Given the description of an element on the screen output the (x, y) to click on. 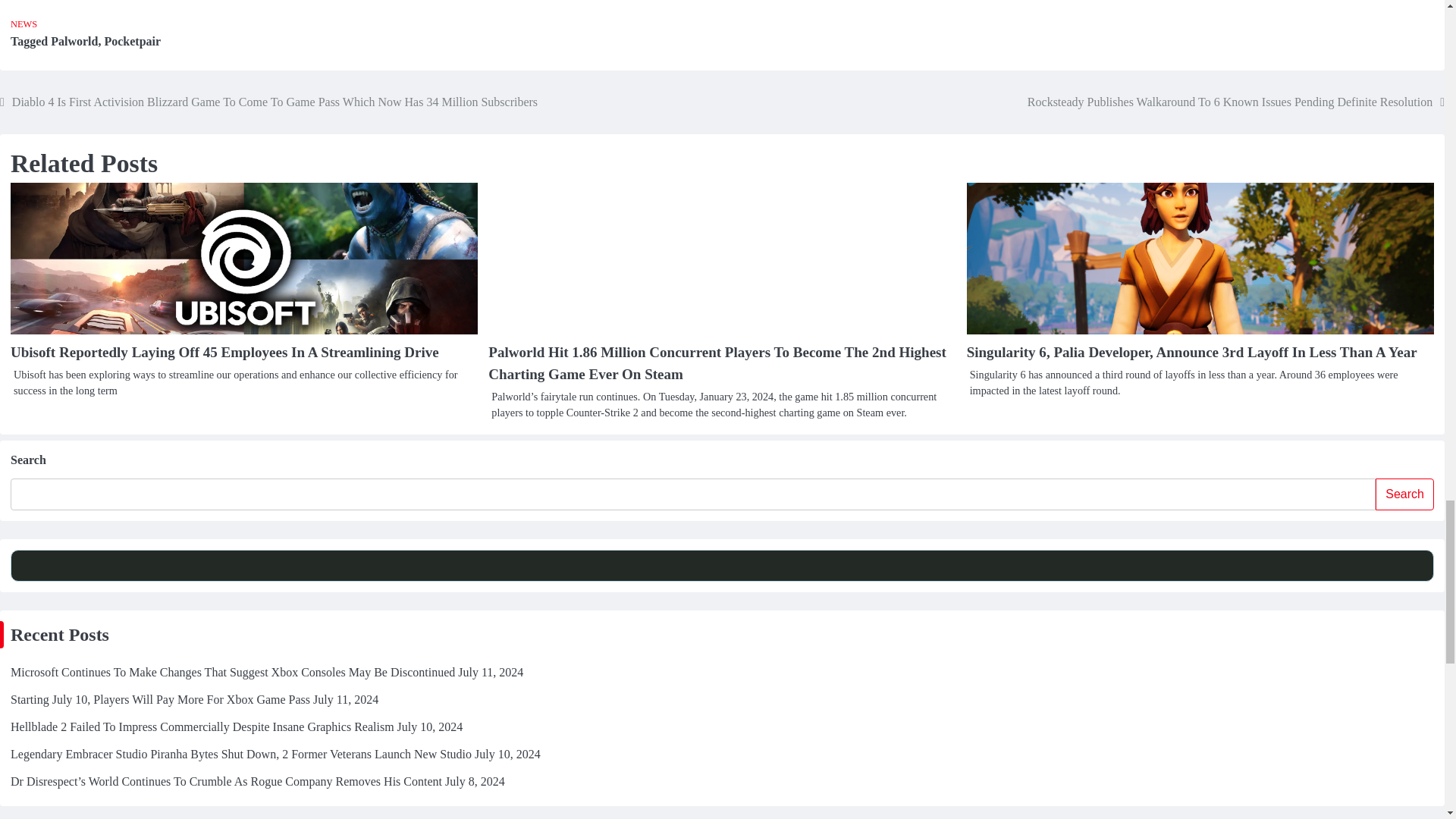
Search (1404, 494)
Pocketpair (131, 41)
Palworld (73, 41)
NEWS (23, 23)
